Given the description of an element on the screen output the (x, y) to click on. 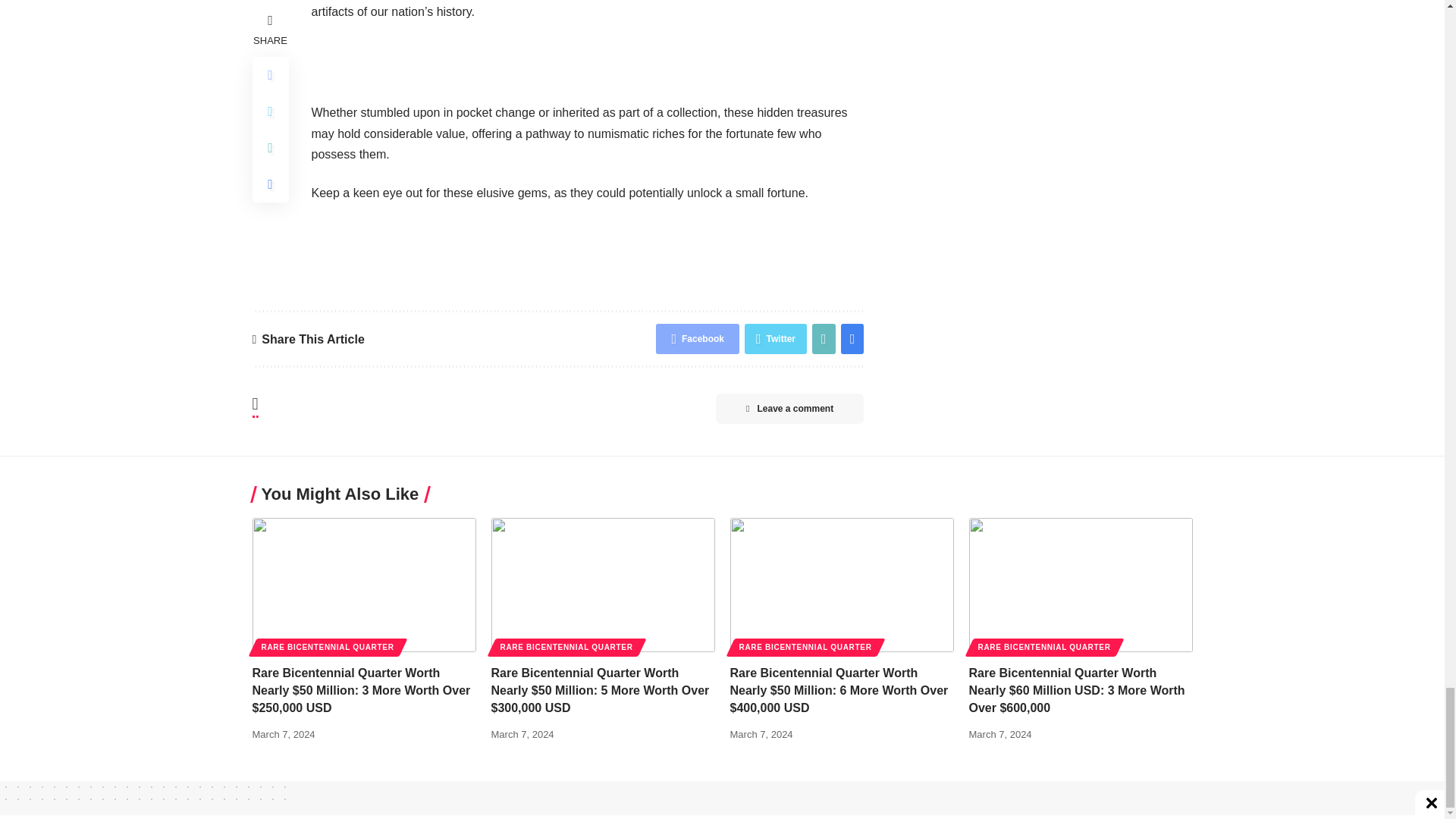
Facebook (697, 338)
Twitter (775, 338)
